Given the description of an element on the screen output the (x, y) to click on. 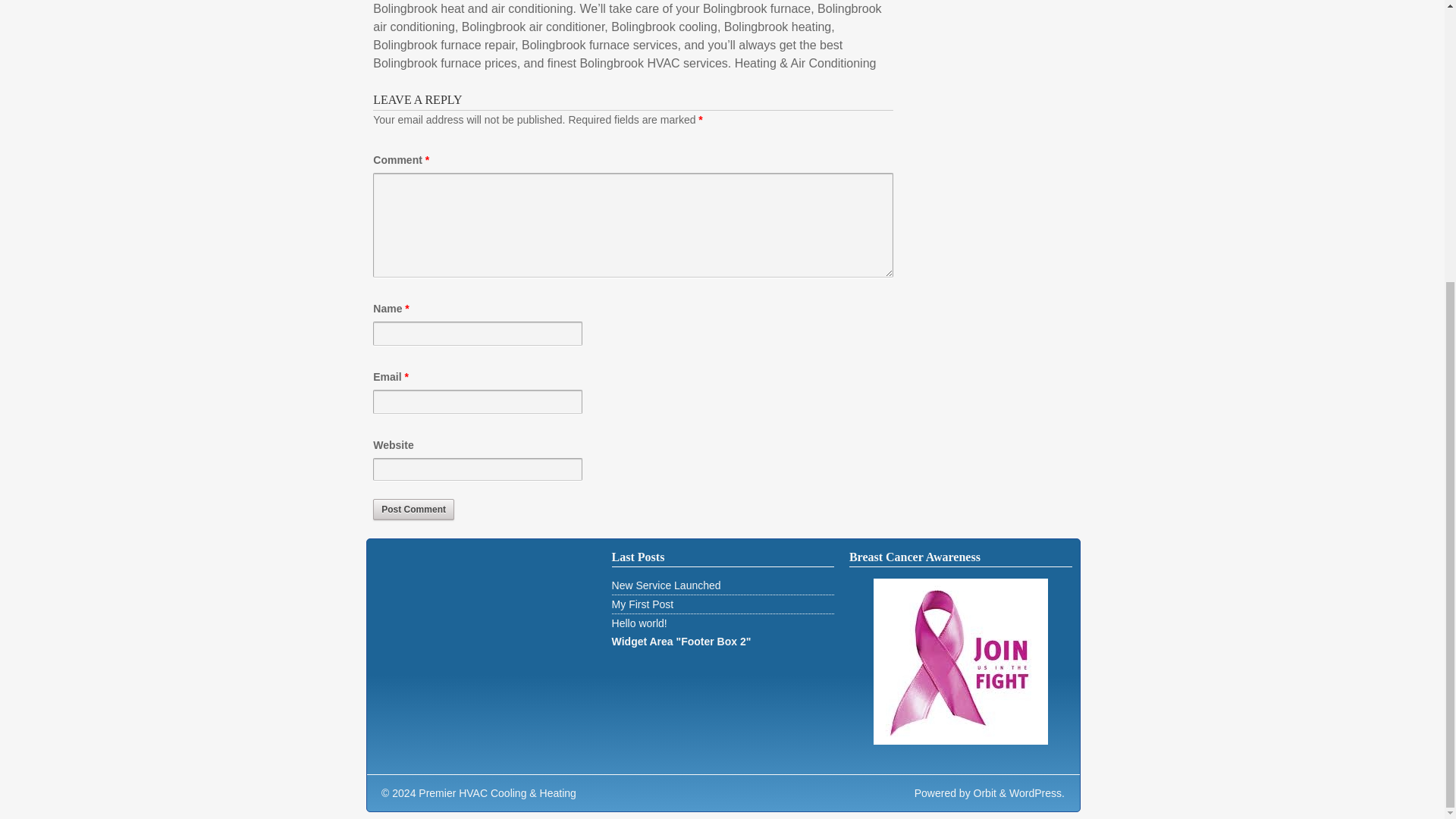
Semantic Personal Publishing Platform (1036, 793)
Orbit Theme by bitado.com (984, 793)
Post Comment (413, 509)
